Given the description of an element on the screen output the (x, y) to click on. 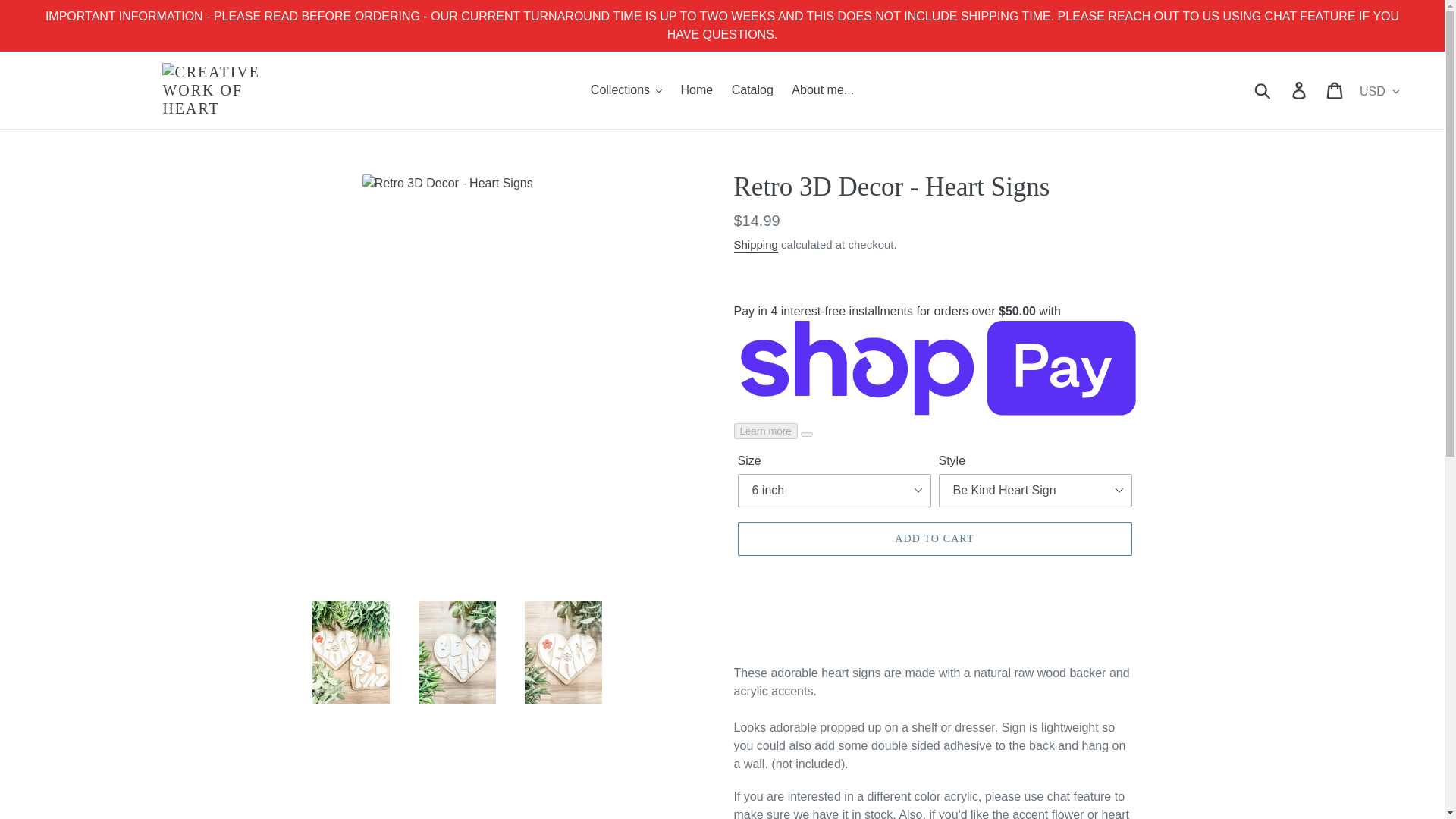
Submit (1263, 90)
Catalog (751, 89)
Home (696, 89)
Cart (1335, 90)
About me... (822, 89)
Log in (1299, 90)
